Given the description of an element on the screen output the (x, y) to click on. 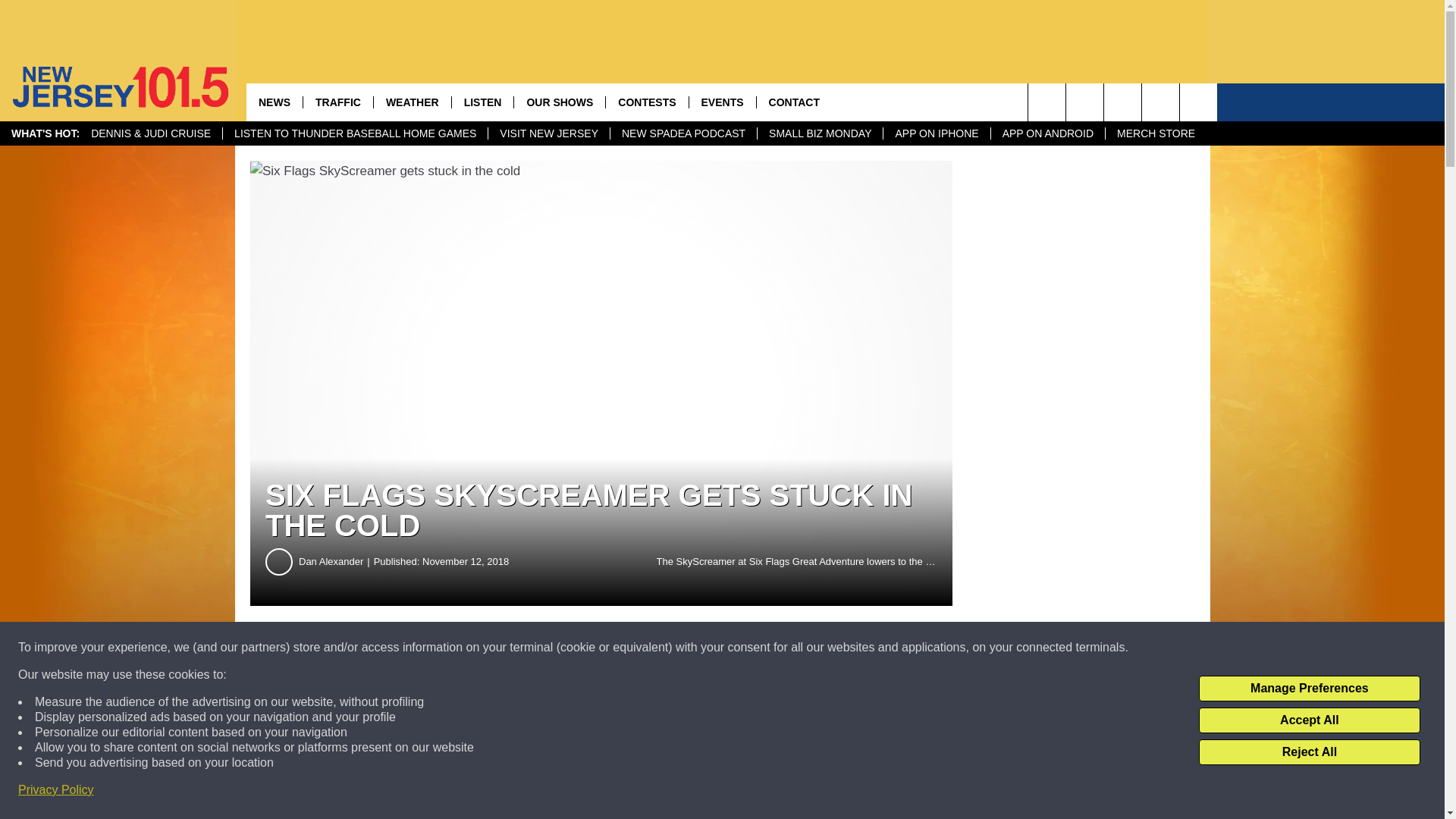
APP ON IPHONE (936, 133)
Share on Facebook (460, 647)
Accept All (1309, 720)
WEATHER (411, 102)
Reject All (1309, 751)
Privacy Policy (55, 789)
LISTEN TO THUNDER BASEBALL HOME GAMES (354, 133)
SMALL BIZ MONDAY (819, 133)
MERCH STORE (1156, 133)
Manage Preferences (1309, 688)
VISIT NEW JERSEY (548, 133)
LISTEN (482, 102)
APP ON ANDROID (1047, 133)
NEW SPADEA PODCAST (683, 133)
Share on Twitter (741, 647)
